Given the description of an element on the screen output the (x, y) to click on. 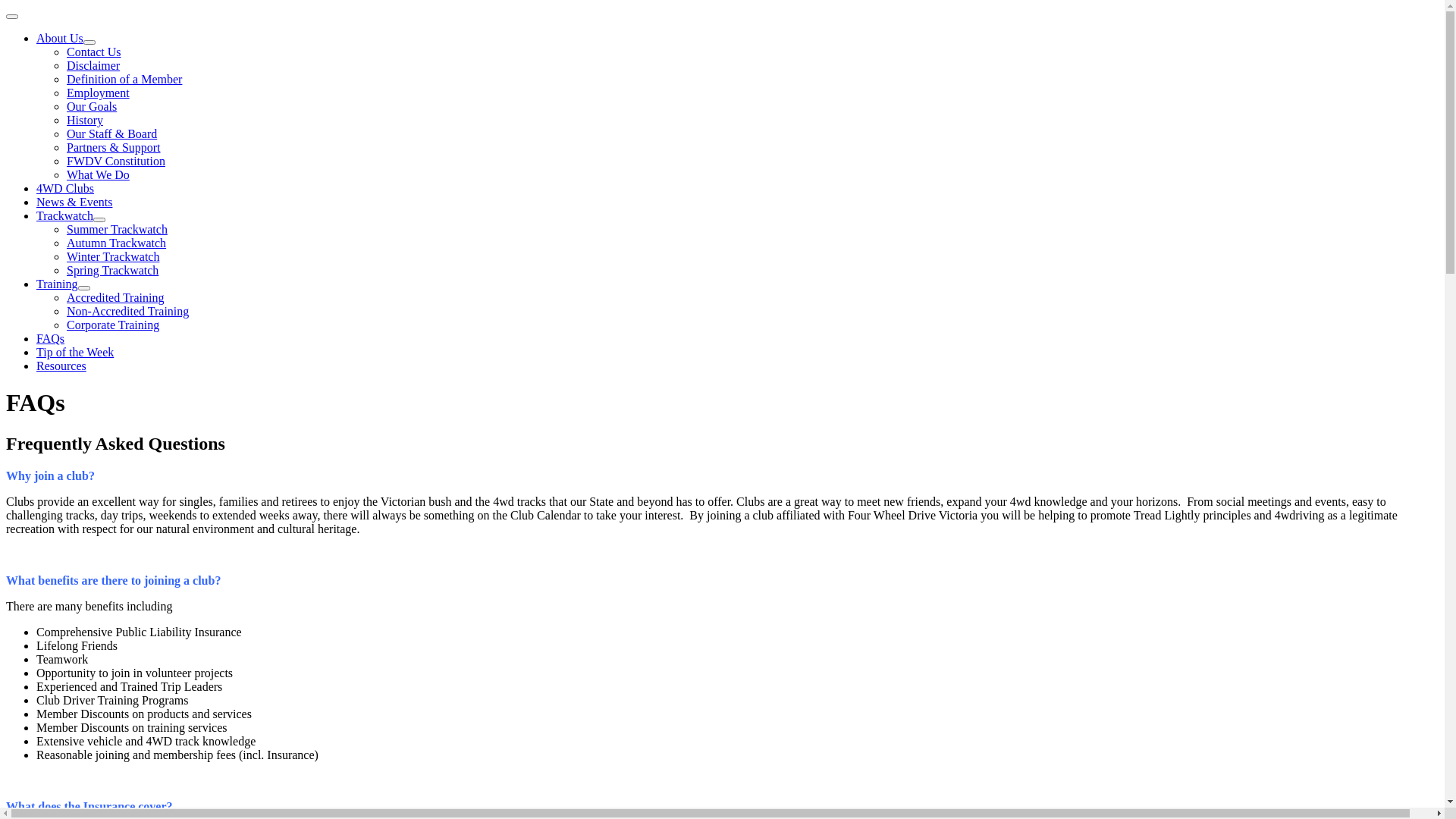
FWDV Constitution Element type: text (115, 160)
What We Do Element type: text (97, 174)
Training Element type: text (57, 283)
Winter Trackwatch Element type: text (112, 256)
FAQs Element type: text (50, 338)
History Element type: text (84, 119)
Autumn Trackwatch Element type: text (116, 242)
Tip of the Week Element type: text (74, 351)
Spring Trackwatch Element type: text (112, 269)
Corporate Training Element type: text (112, 324)
4WD Clubs Element type: text (65, 188)
Summer Trackwatch Element type: text (116, 228)
Definition of a Member Element type: text (124, 78)
Our Goals Element type: text (91, 106)
Contact Us Element type: text (93, 51)
News & Events Element type: text (74, 201)
Employment Element type: text (97, 92)
Trackwatch Element type: text (64, 215)
Resources Element type: text (61, 365)
Disclaimer Element type: text (92, 65)
About Us Element type: text (59, 37)
Our Staff & Board Element type: text (111, 133)
Partners & Support Element type: text (113, 147)
Accredited Training Element type: text (114, 297)
Non-Accredited Training Element type: text (127, 310)
